Given the description of an element on the screen output the (x, y) to click on. 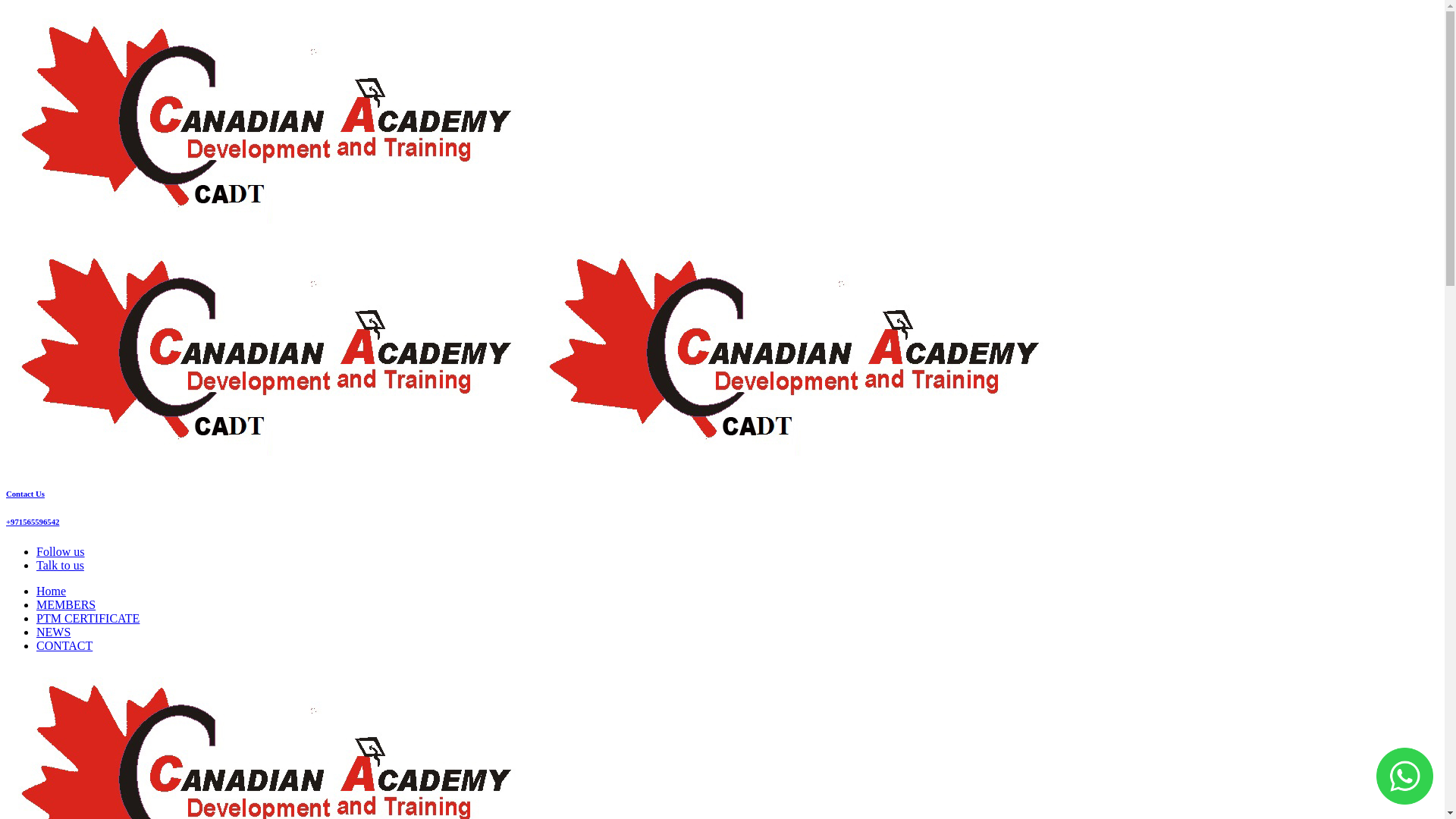
MEMBERS Element type: text (65, 604)
Home Element type: text (50, 590)
Follow us Element type: text (60, 551)
Talk to us Element type: text (60, 564)
PTM CERTIFICATE Element type: text (87, 617)
Contact Us Element type: text (25, 493)
+971565596542 Element type: text (32, 521)
NEWS Element type: text (53, 631)
CONTACT Element type: text (64, 645)
CADT Canadian Academy Element type: hover (533, 462)
